Given the description of an element on the screen output the (x, y) to click on. 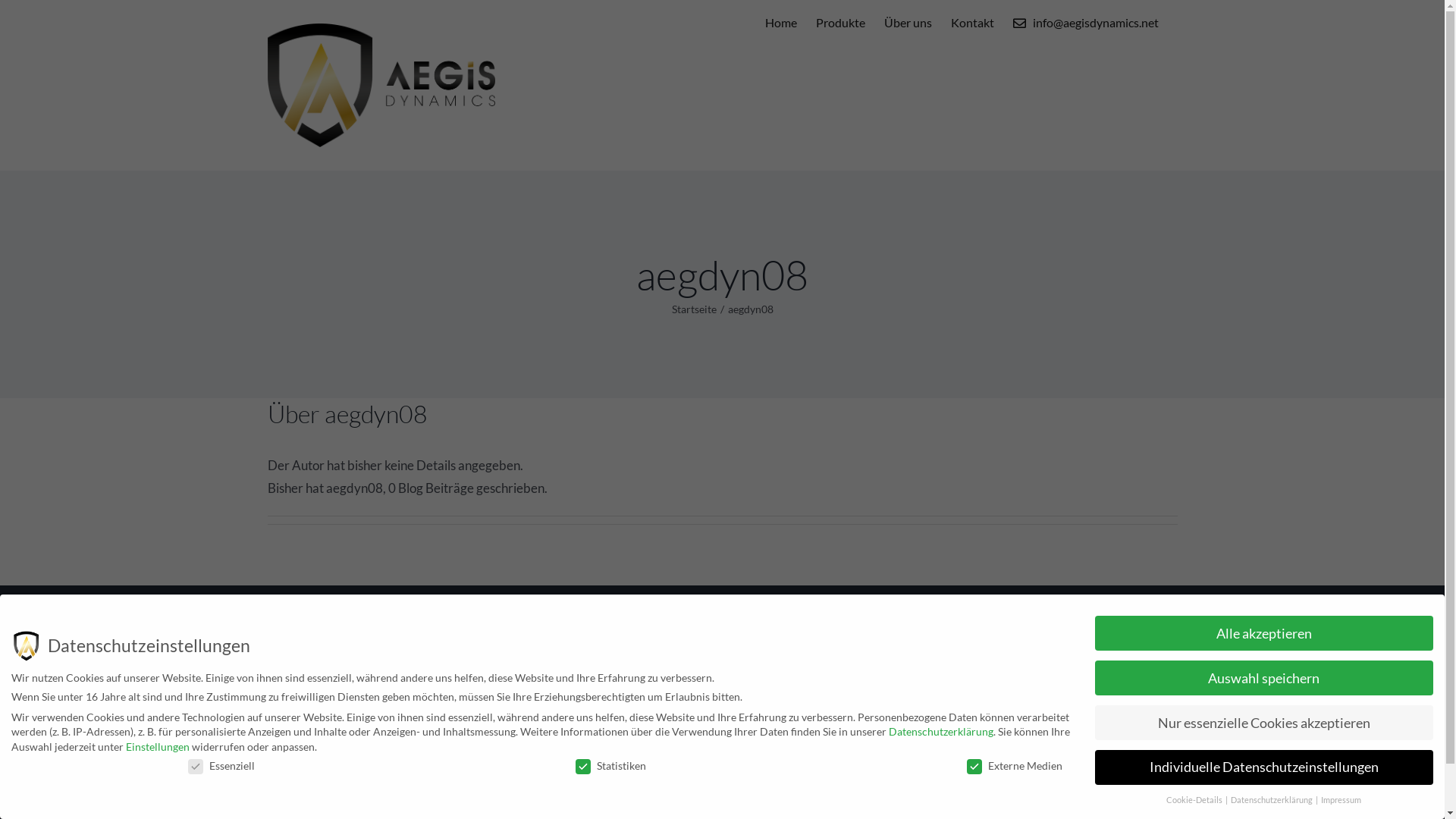
info@aegisdynamics.net Element type: text (1085, 22)
Kontakt Element type: text (756, 734)
Downloads Element type: text (765, 664)
Nur essenzielle Cookies akzeptieren Element type: text (1264, 722)
Individuelle Datenschutzeinstellungen Element type: text (1264, 766)
Impressum Element type: text (998, 664)
Produkte Element type: text (840, 22)
Startseite Element type: text (693, 308)
Kontakt Element type: text (972, 22)
Alle akzeptieren Element type: text (1264, 632)
Video Demo Element type: text (768, 688)
Einstellungen Element type: text (157, 746)
Cookie-Details Element type: text (1194, 799)
Impressum Element type: text (1341, 799)
Auswahl speichern Element type: text (1264, 677)
Datenschutz Element type: text (1002, 641)
Home Element type: text (781, 22)
info@aegisdynamics.net Element type: text (609, 734)
Produkte Element type: text (760, 641)
